Given the description of an element on the screen output the (x, y) to click on. 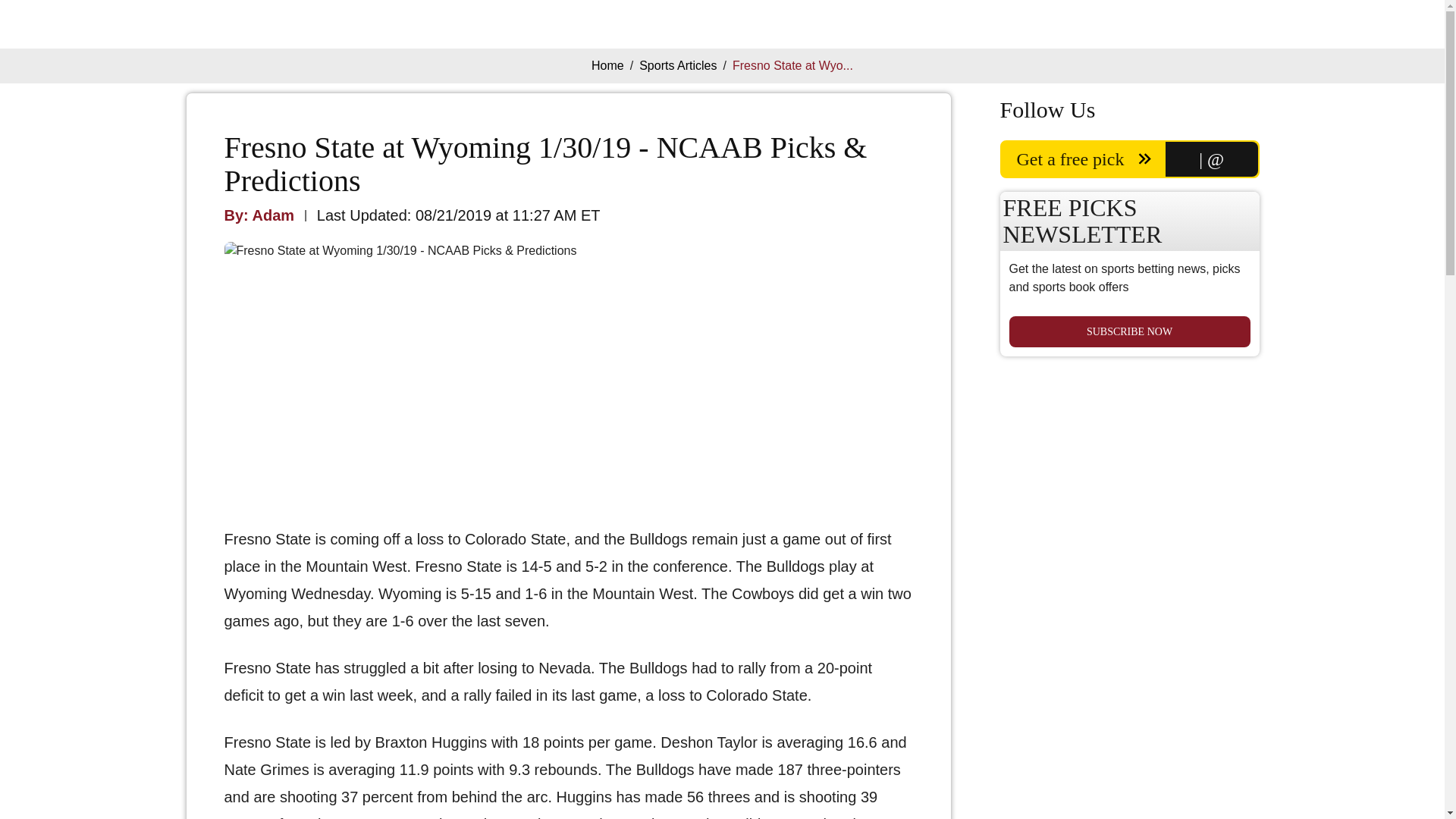
Sports Articles (677, 65)
Home (607, 65)
Fresno State at Wyo... (792, 65)
SUBSCRIBE NOW (1129, 331)
By: Adam (259, 214)
